Given the description of an element on the screen output the (x, y) to click on. 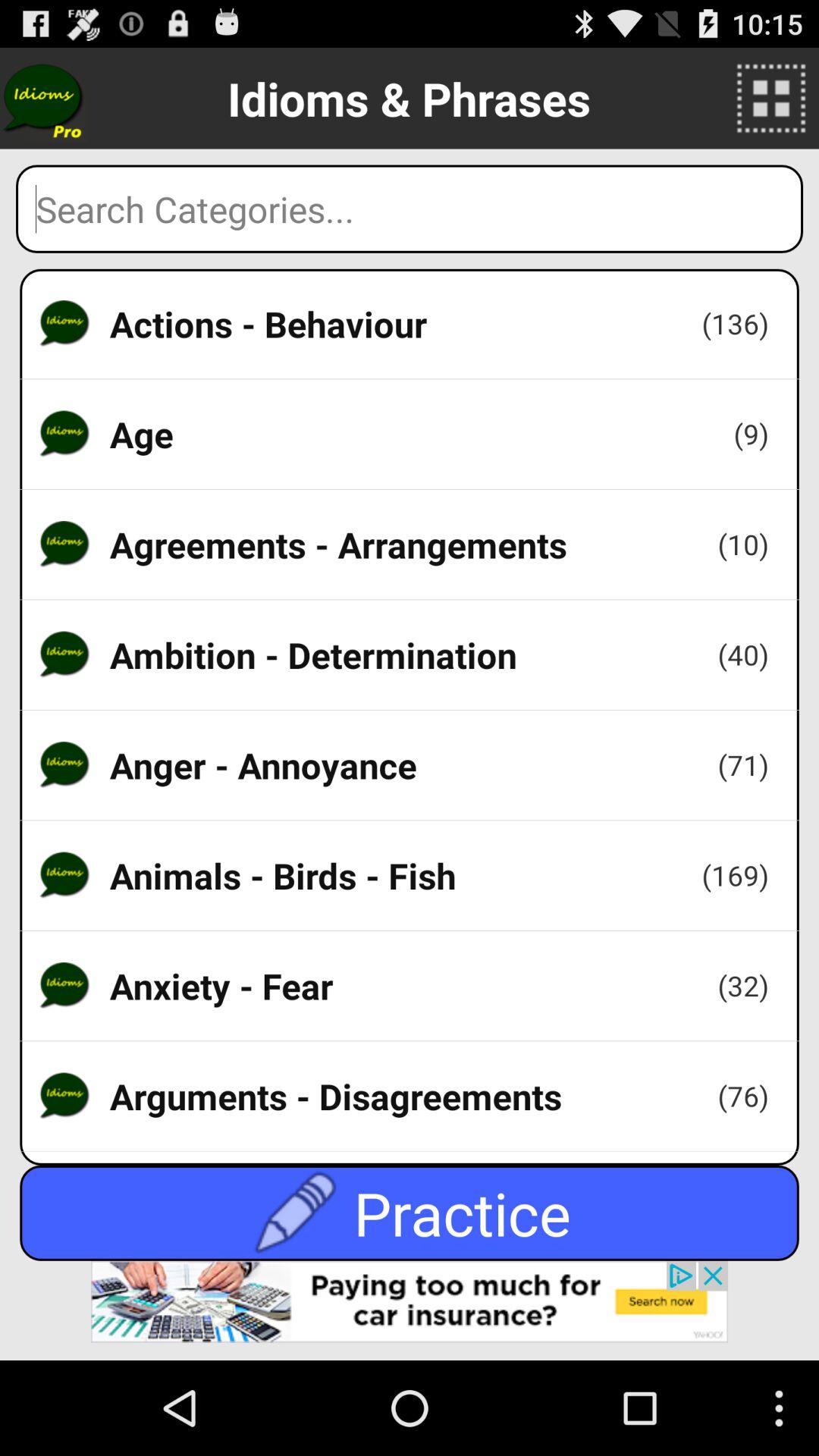
search bar (409, 208)
